Given the description of an element on the screen output the (x, y) to click on. 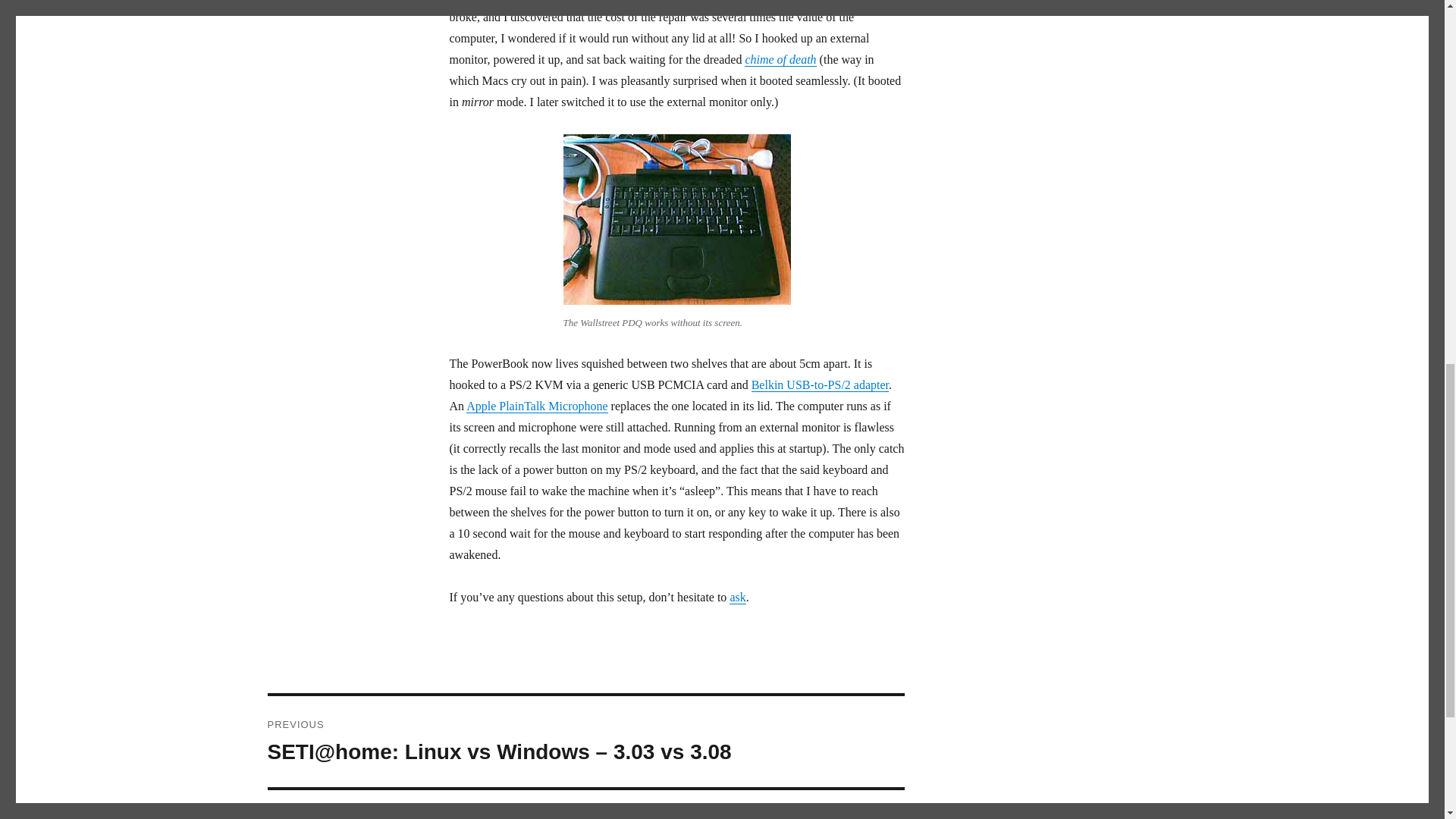
Apple PlainTalk Microphone (585, 804)
chime of death (536, 405)
ask (779, 59)
